Given the description of an element on the screen output the (x, y) to click on. 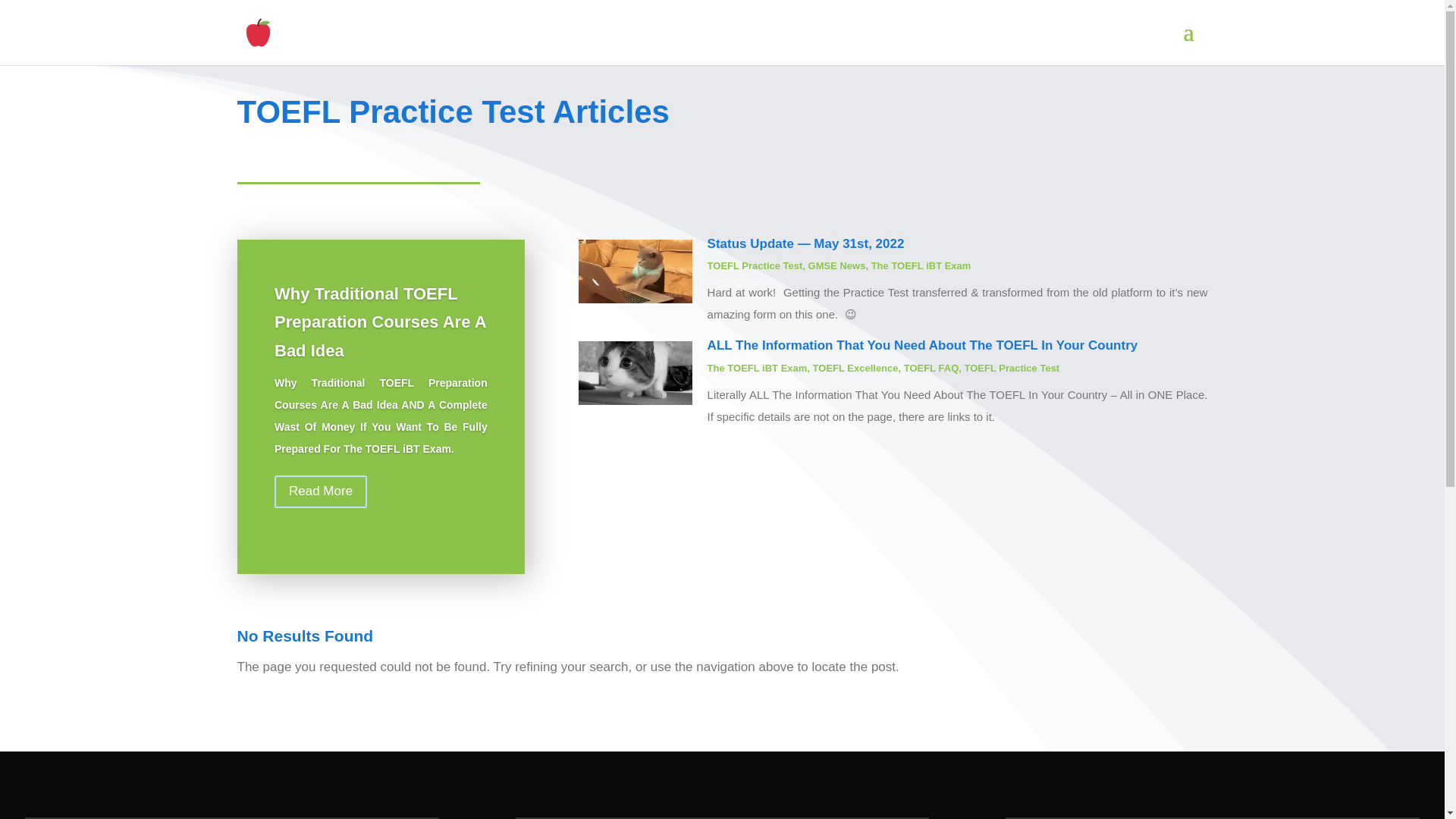
Why Traditional TOEFL Preparation Courses Are A Bad Idea (380, 322)
The TOEFL iBT Exam (757, 367)
TOEFL Practice Test (755, 265)
GMSE News (837, 265)
TOEFL Excellence (855, 367)
Read More (320, 491)
The TOEFL iBT Exam (920, 265)
TOEFL Practice Test (1011, 367)
TOEFL FAQ (931, 367)
